Given the description of an element on the screen output the (x, y) to click on. 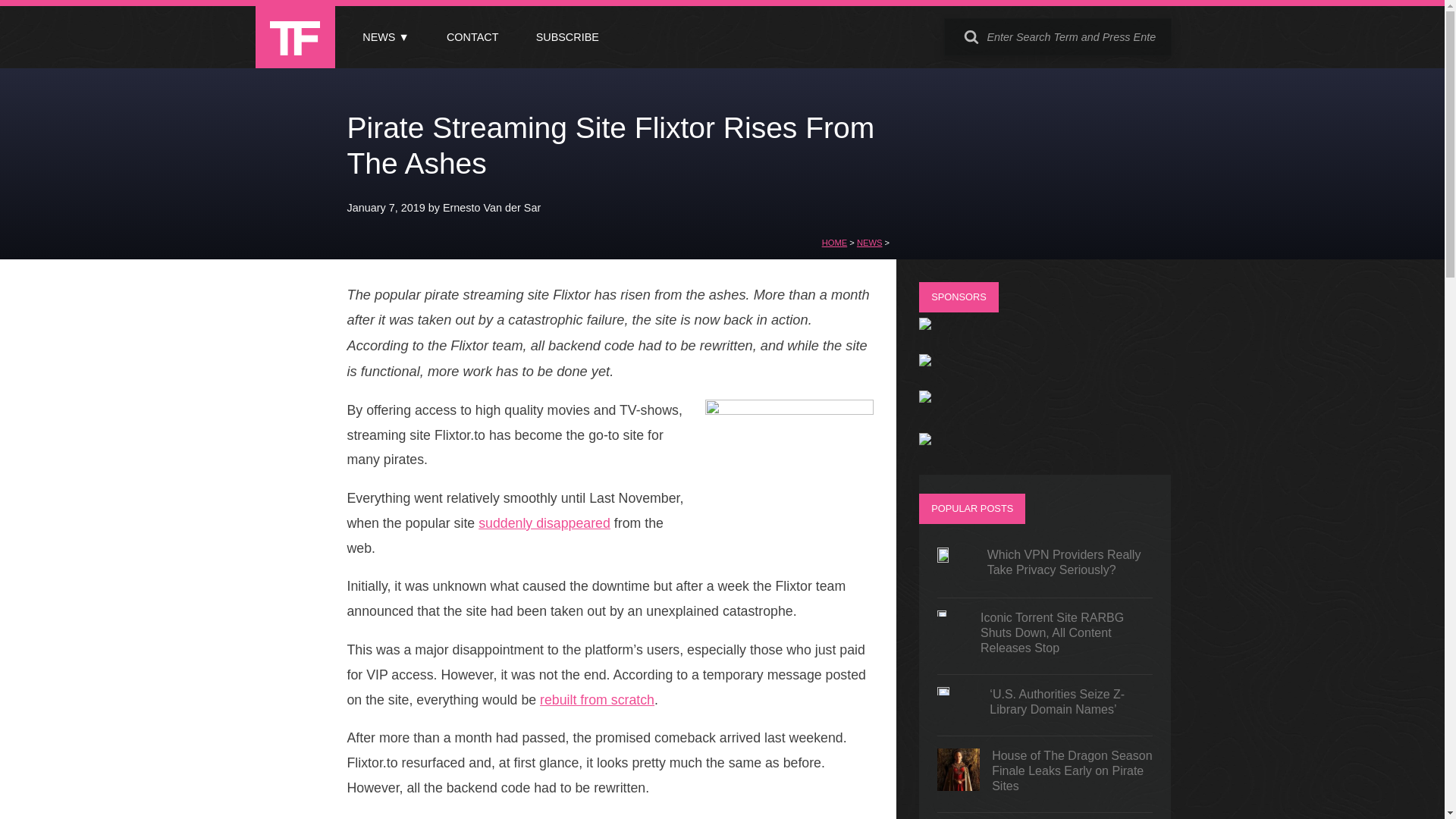
Which VPN Providers Really Take Privacy Seriously? (1045, 566)
SUBSCRIBE (566, 37)
CONTACT (471, 37)
ExpressVPN (924, 361)
Ernesto Van der Sar (491, 207)
rebuilt from scratch (596, 699)
HOME (834, 242)
Go to TorrentFreak. (834, 242)
